Given the description of an element on the screen output the (x, y) to click on. 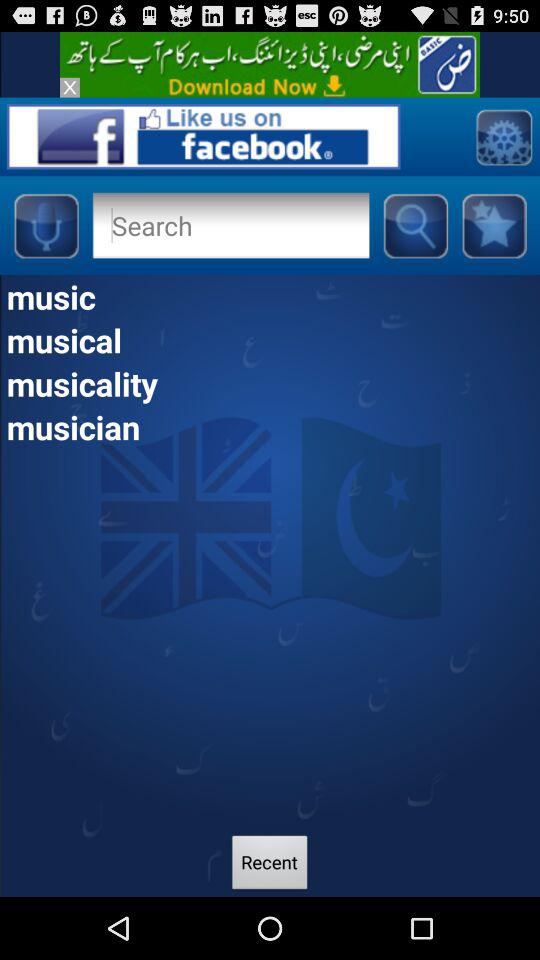
select item above musical (270, 296)
